Given the description of an element on the screen output the (x, y) to click on. 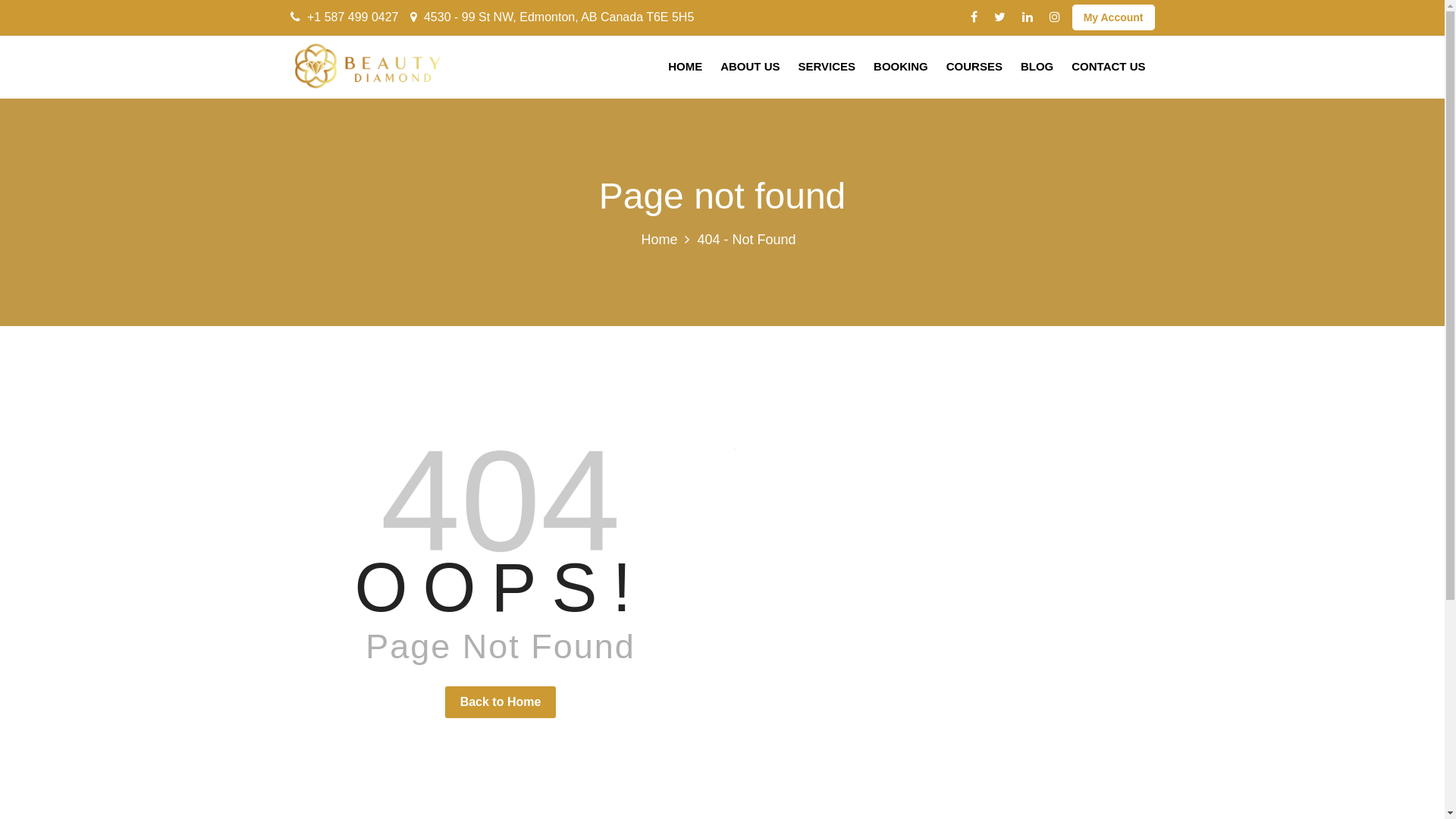
My Account Element type: text (1113, 17)
BLOG Element type: text (1036, 66)
CONTACT US Element type: text (1108, 66)
SERVICES Element type: text (826, 66)
Beauty Diamond Medispa Element type: hover (365, 65)
COURSES Element type: text (974, 66)
ABOUT US Element type: text (749, 66)
Home Element type: text (658, 239)
BOOKING Element type: text (900, 66)
Back to Home Element type: text (500, 701)
HOME Element type: text (684, 66)
